Given the description of an element on the screen output the (x, y) to click on. 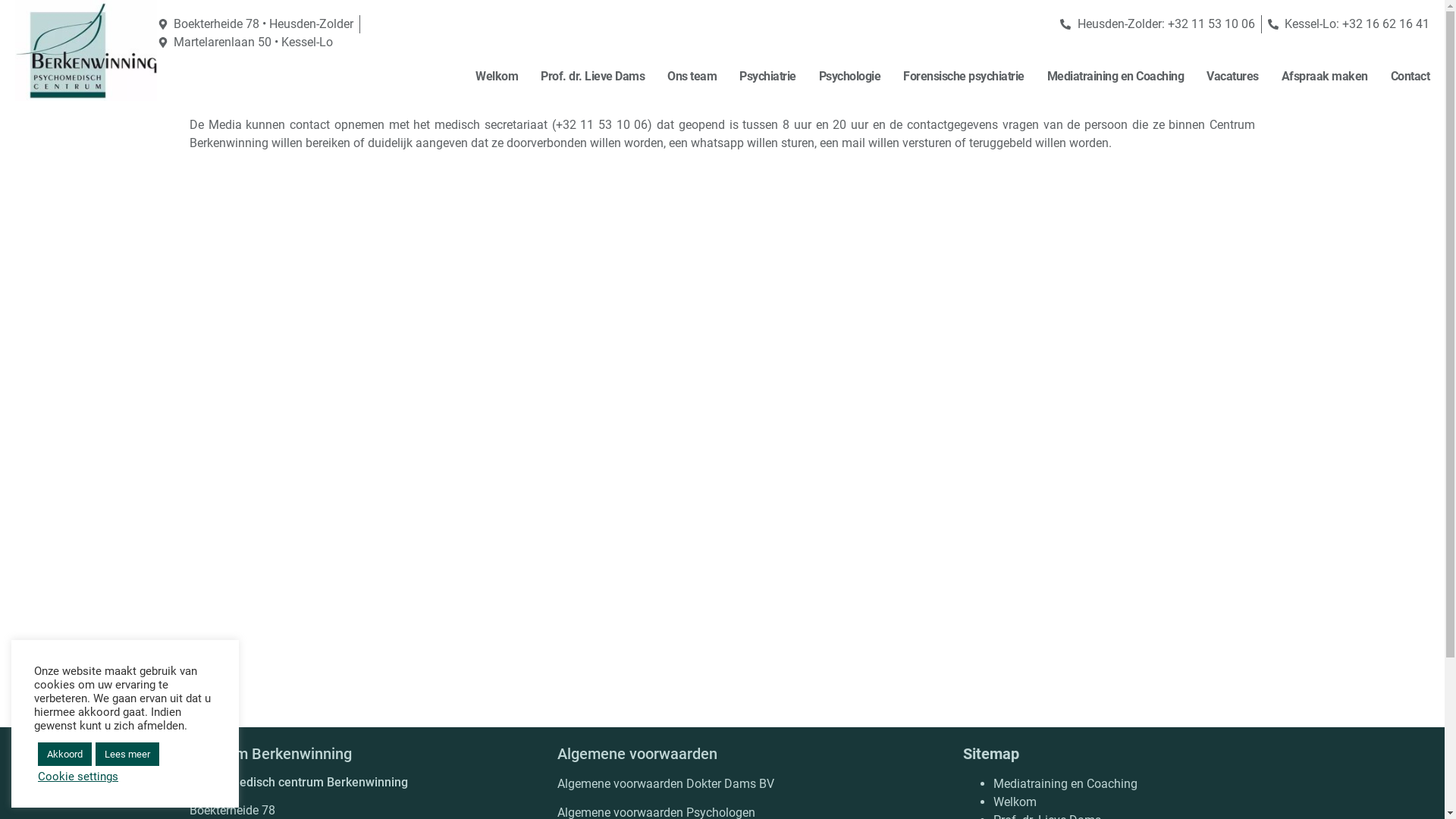
Lees meer Element type: text (127, 753)
Algemene voorwaarden Dokter Dams BV Element type: text (665, 783)
Prof. dr. Lieve Dams Element type: text (592, 76)
Welkom Element type: text (1014, 801)
Afspraak maken Element type: text (1324, 76)
Welkom Element type: text (496, 76)
Contact Element type: text (1410, 76)
Berkenwinning Element type: hover (85, 50)
Mediatraining en Coaching Element type: text (1065, 783)
Ons team Element type: text (691, 76)
Vacatures Element type: text (1232, 76)
Forensische psychiatrie Element type: text (963, 76)
Psychologie Element type: text (850, 76)
Cookie settings Element type: text (77, 776)
Psychiatrie Element type: text (767, 76)
Mediatraining en Coaching Element type: text (1114, 76)
Akkoord Element type: text (64, 753)
